Given the description of an element on the screen output the (x, y) to click on. 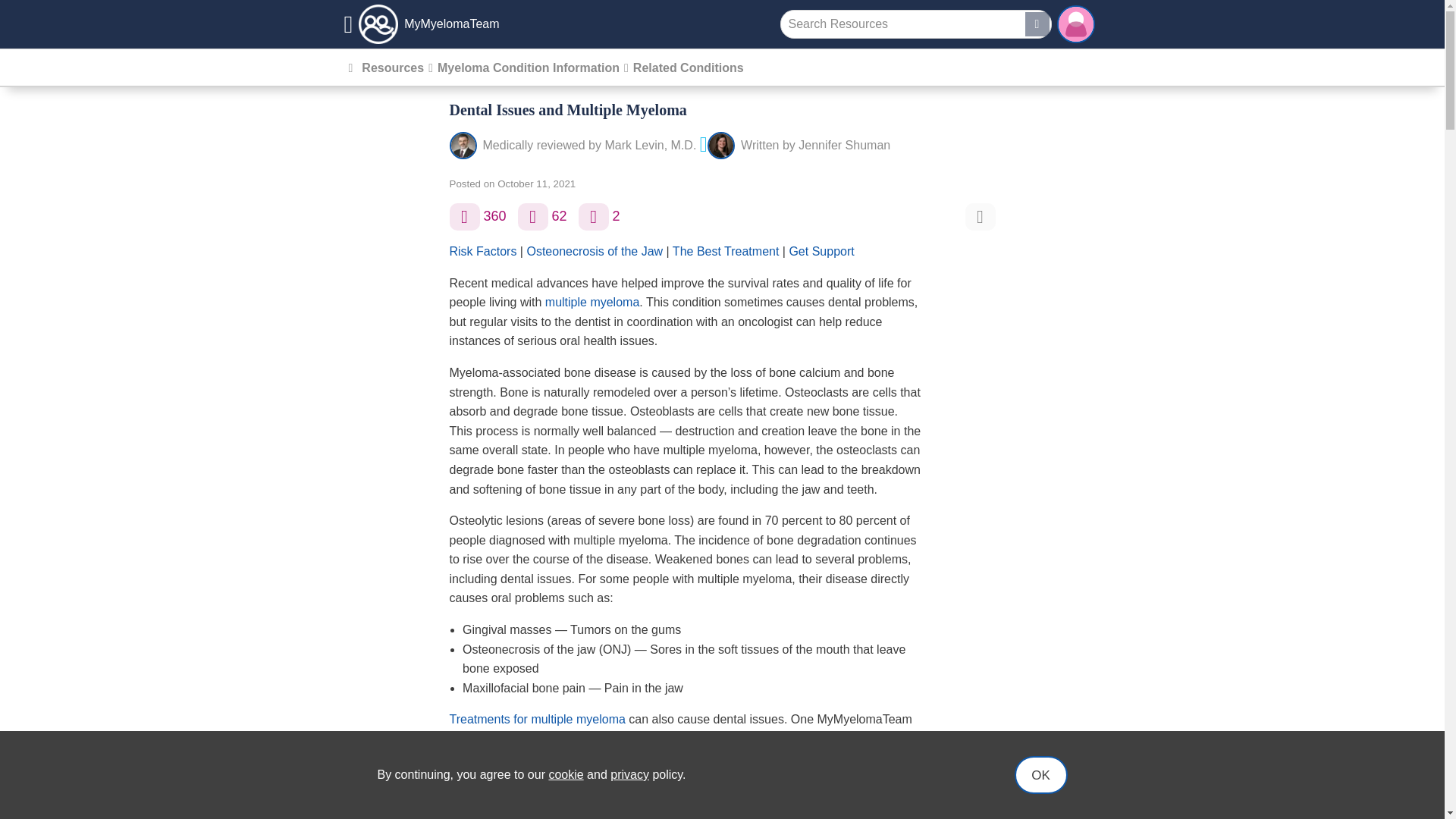
OK (1040, 774)
Related Conditions (688, 67)
Add a comment (533, 216)
cookie (565, 774)
Ask a question (593, 216)
Mark Levin, M.D. (649, 144)
I like this (463, 216)
OK (1040, 774)
Resources (392, 67)
MyMyelomaTeam (421, 23)
